Given the description of an element on the screen output the (x, y) to click on. 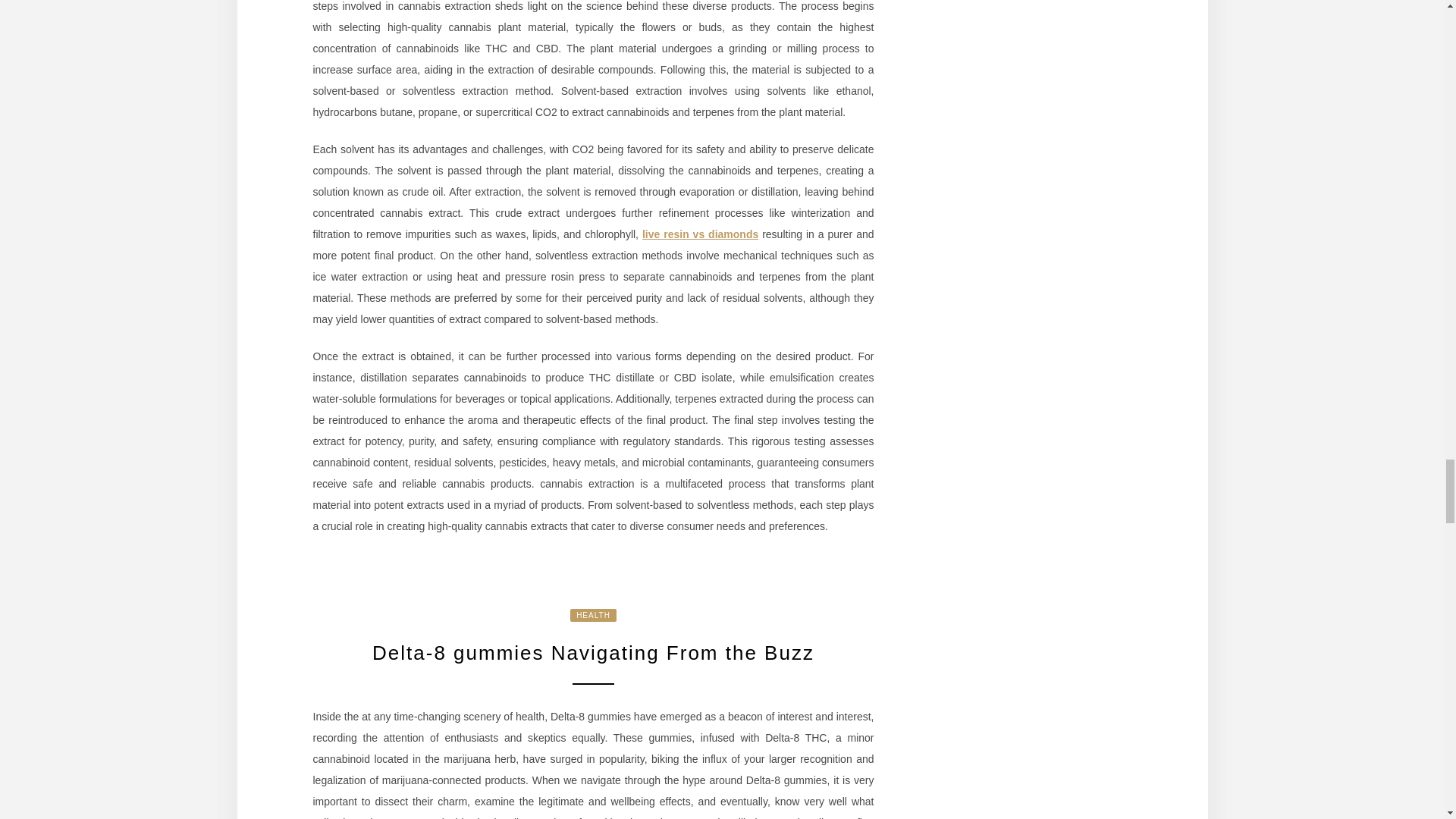
Delta-8 gummies Navigating From the Buzz (592, 652)
HEALTH (592, 615)
live resin vs diamonds (700, 234)
